Given the description of an element on the screen output the (x, y) to click on. 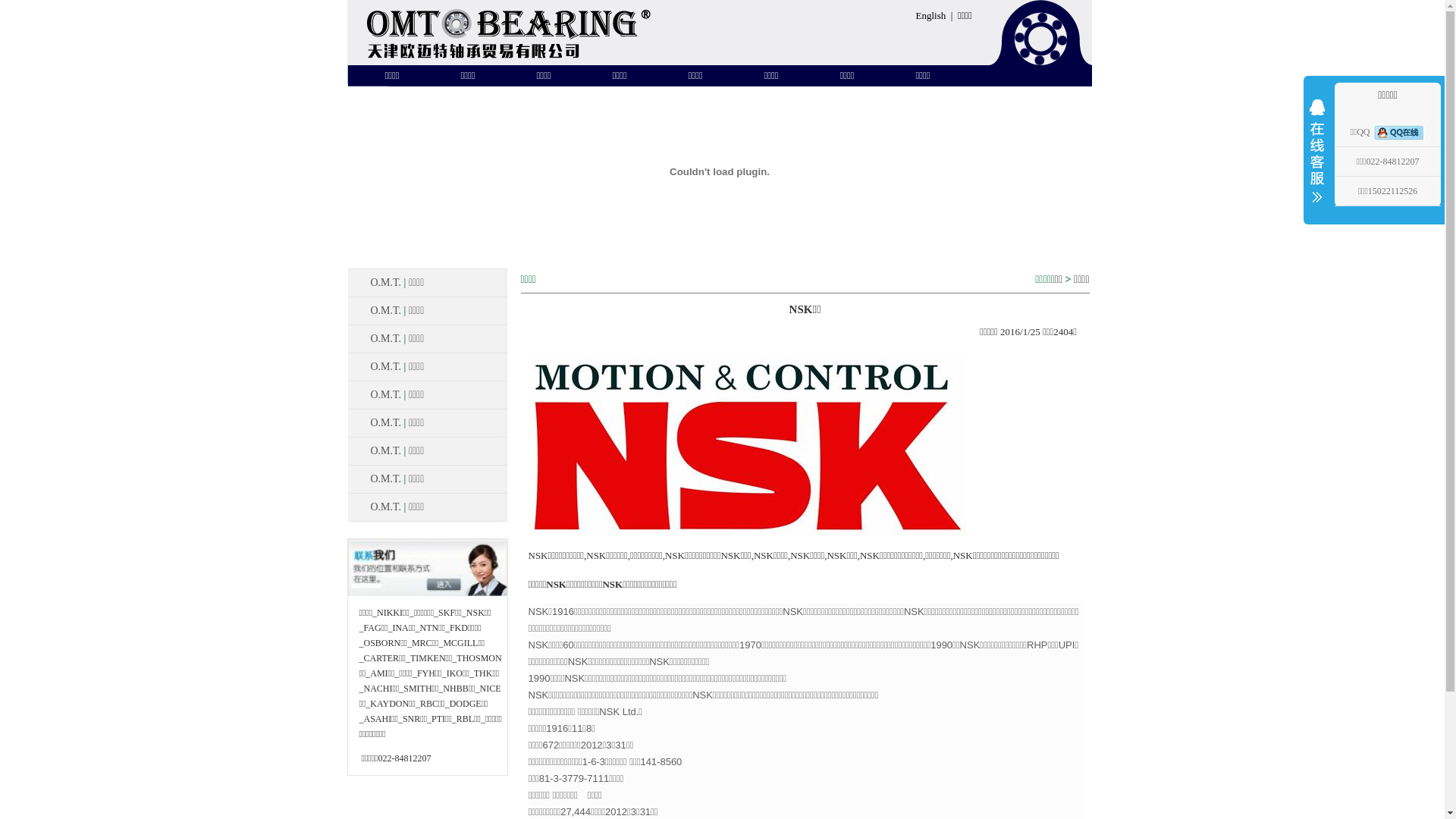
English Element type: text (931, 15)
